Given the description of an element on the screen output the (x, y) to click on. 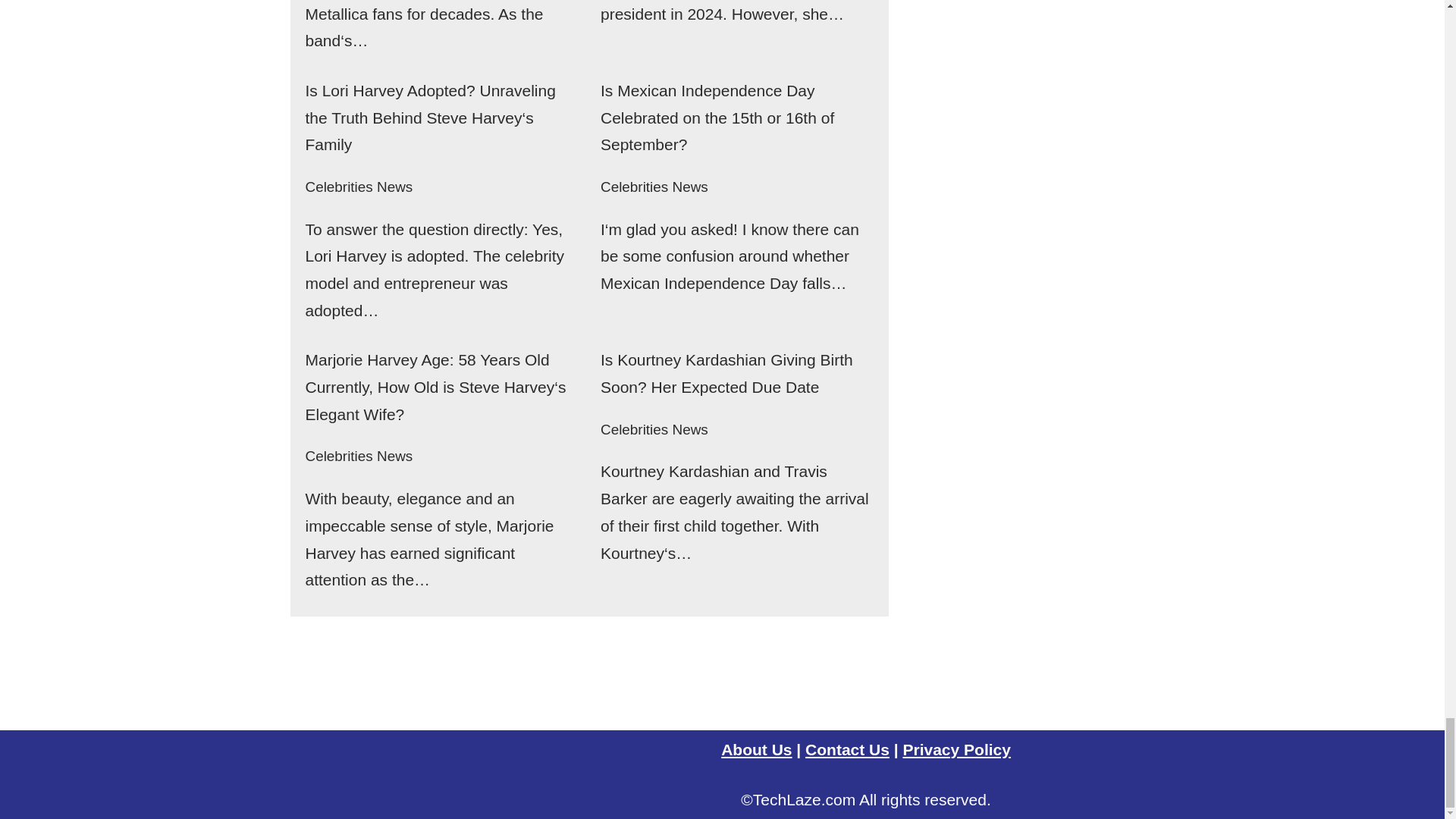
Celebrities News (358, 186)
Celebrities News (653, 186)
